Given the description of an element on the screen output the (x, y) to click on. 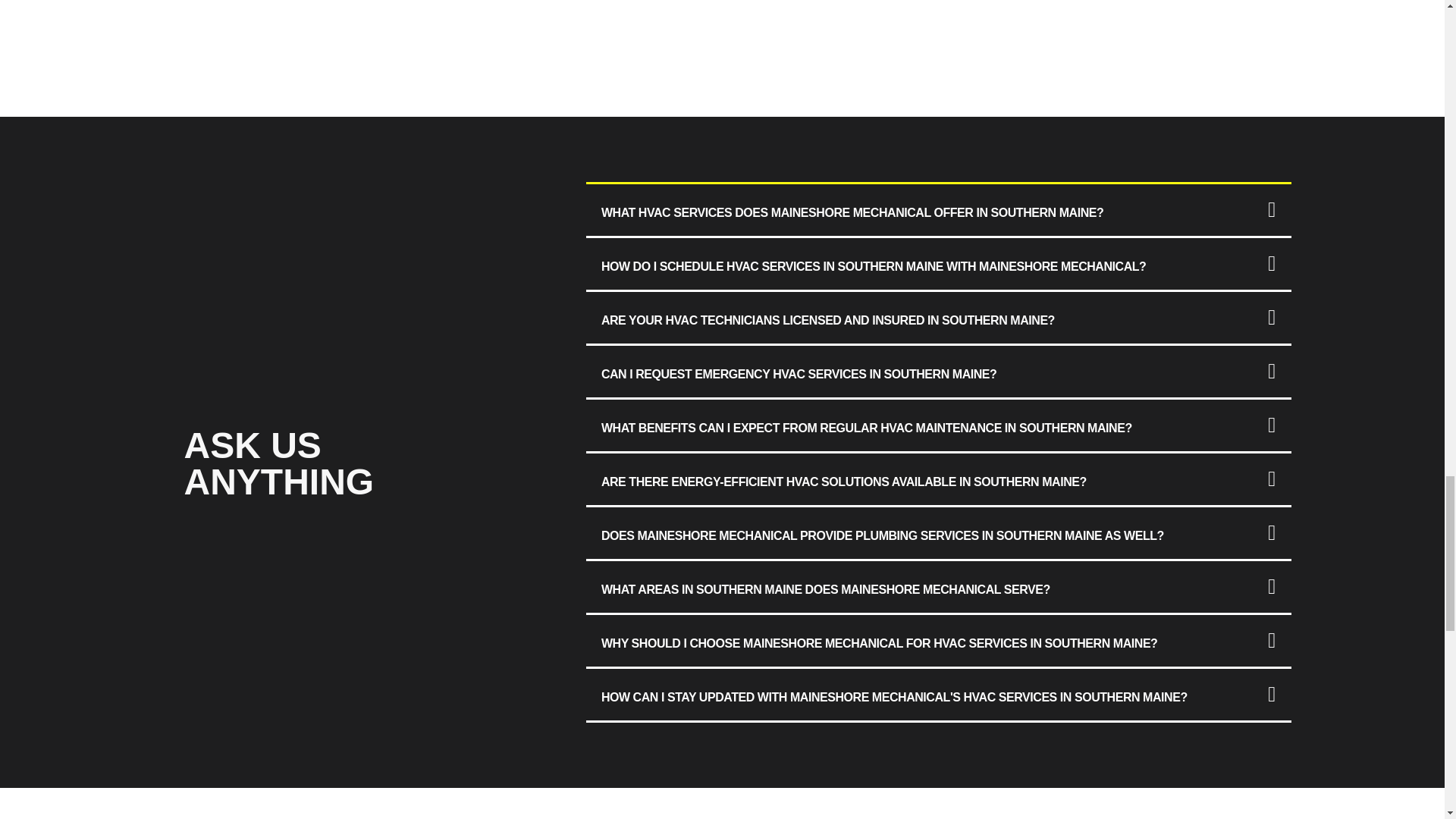
CAN I REQUEST EMERGENCY HVAC SERVICES IN SOUTHERN MAINE? (799, 373)
